Given the description of an element on the screen output the (x, y) to click on. 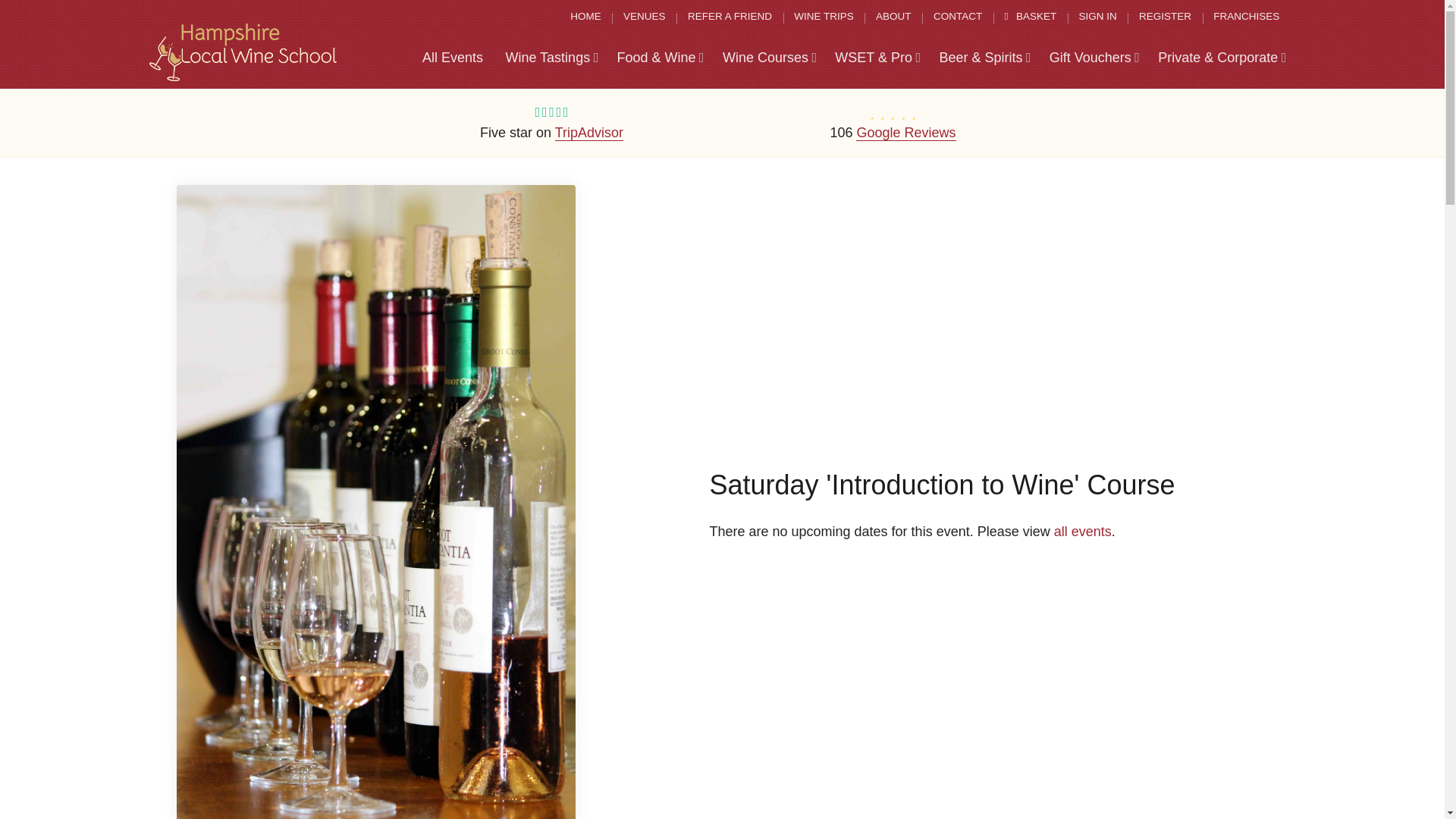
All Events (452, 58)
BASKET (1029, 17)
Wine Tastings (551, 58)
SIGN IN (1096, 17)
FRANCHISES (1246, 17)
HOME (585, 17)
Wine Courses (769, 58)
CONTACT (957, 17)
REGISTER (1164, 17)
WINE TRIPS (823, 17)
ABOUT (893, 17)
VENUES (644, 17)
REFER A FRIEND (729, 17)
